Given the description of an element on the screen output the (x, y) to click on. 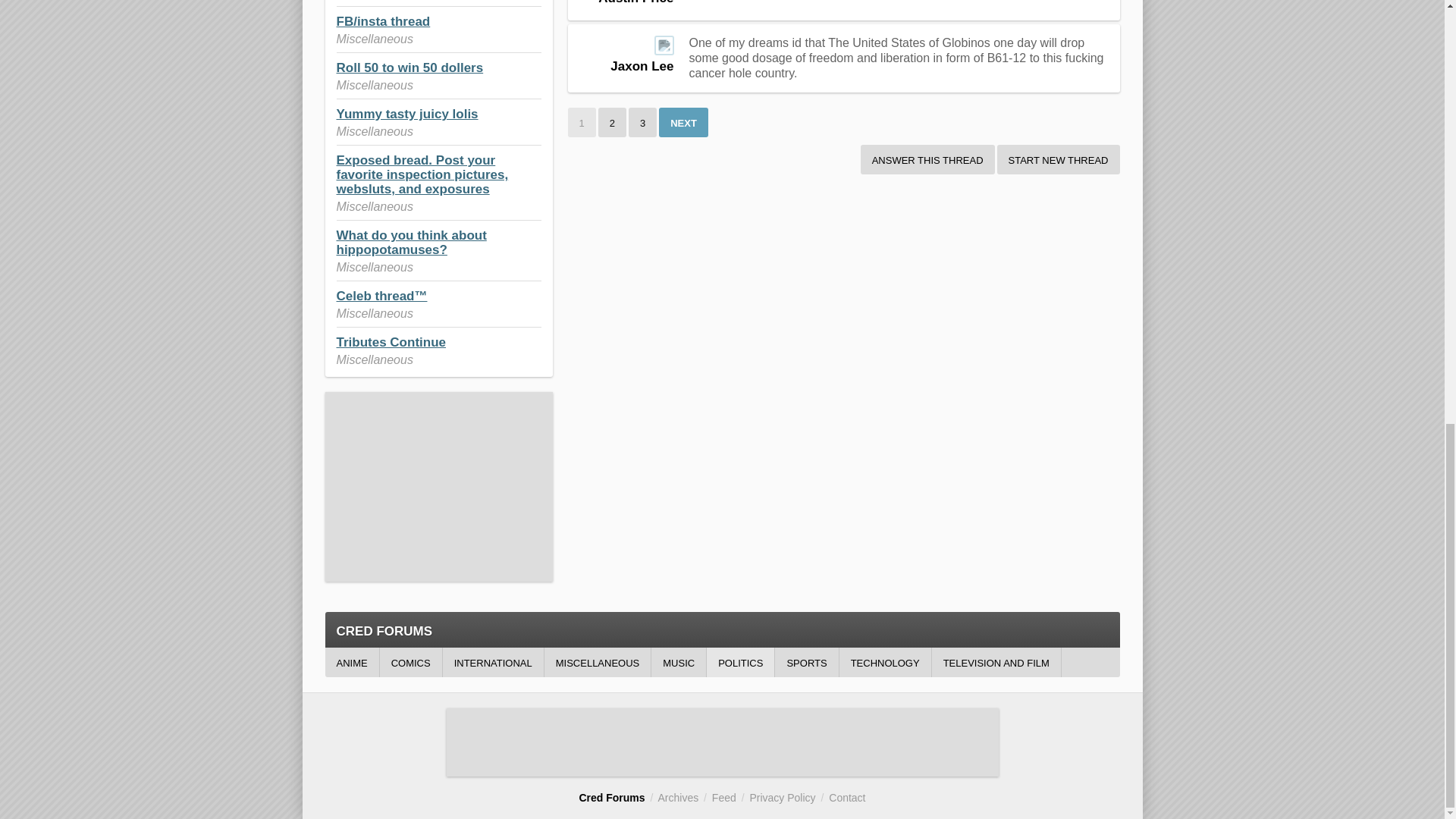
Yummy tasty juicy lolis (407, 114)
START NEW THREAD (1058, 159)
2 (612, 122)
Roll 50 to win 50 dollers (409, 67)
3 (642, 122)
ANSWER THIS THREAD (927, 159)
NEXT (683, 122)
What do you think about hippopotamuses? (411, 242)
Yummy tasty juicy lolis (407, 114)
Roll 50 to win 50 dollers (409, 67)
